Given the description of an element on the screen output the (x, y) to click on. 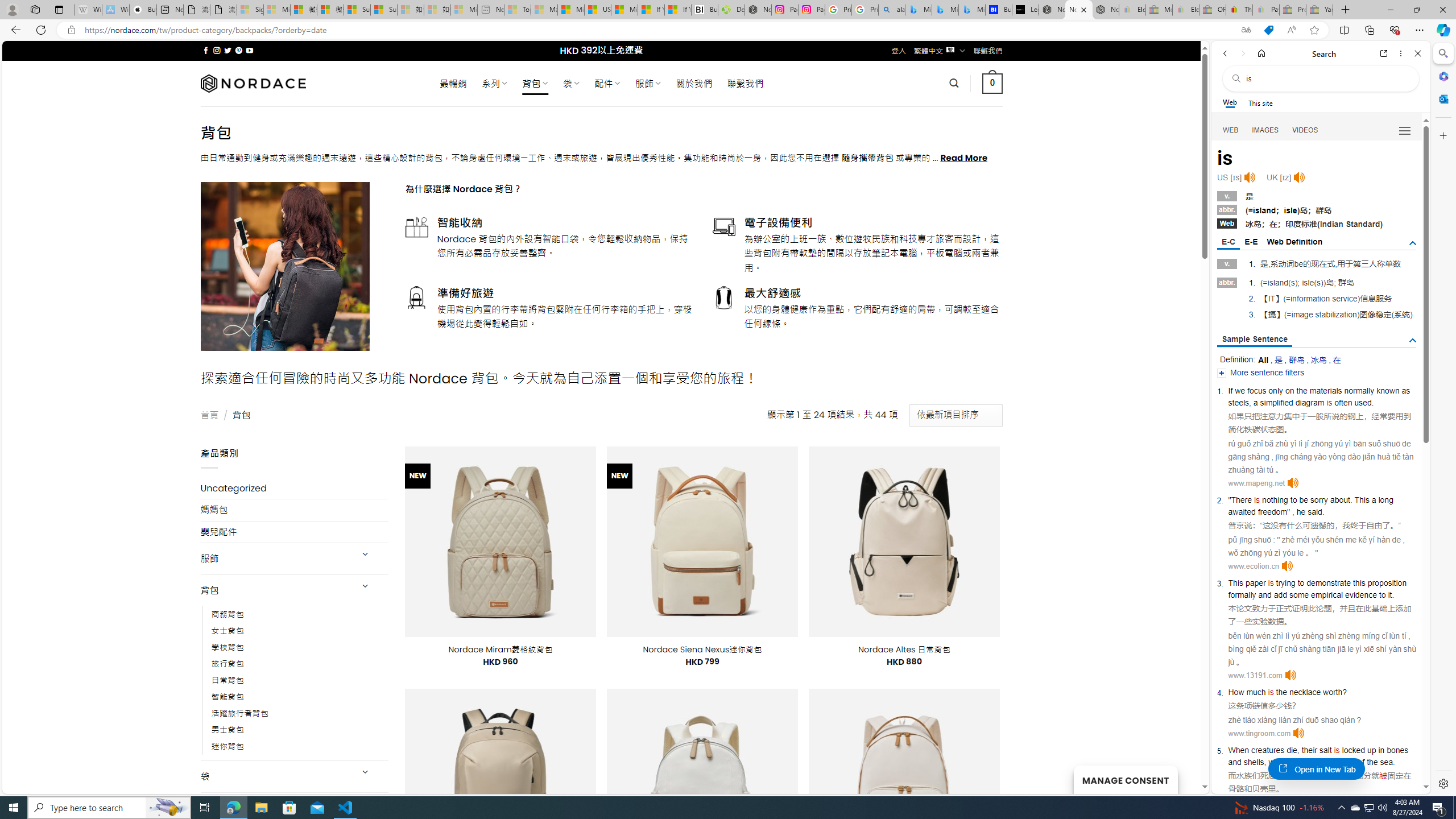
their (1309, 750)
